Given the description of an element on the screen output the (x, y) to click on. 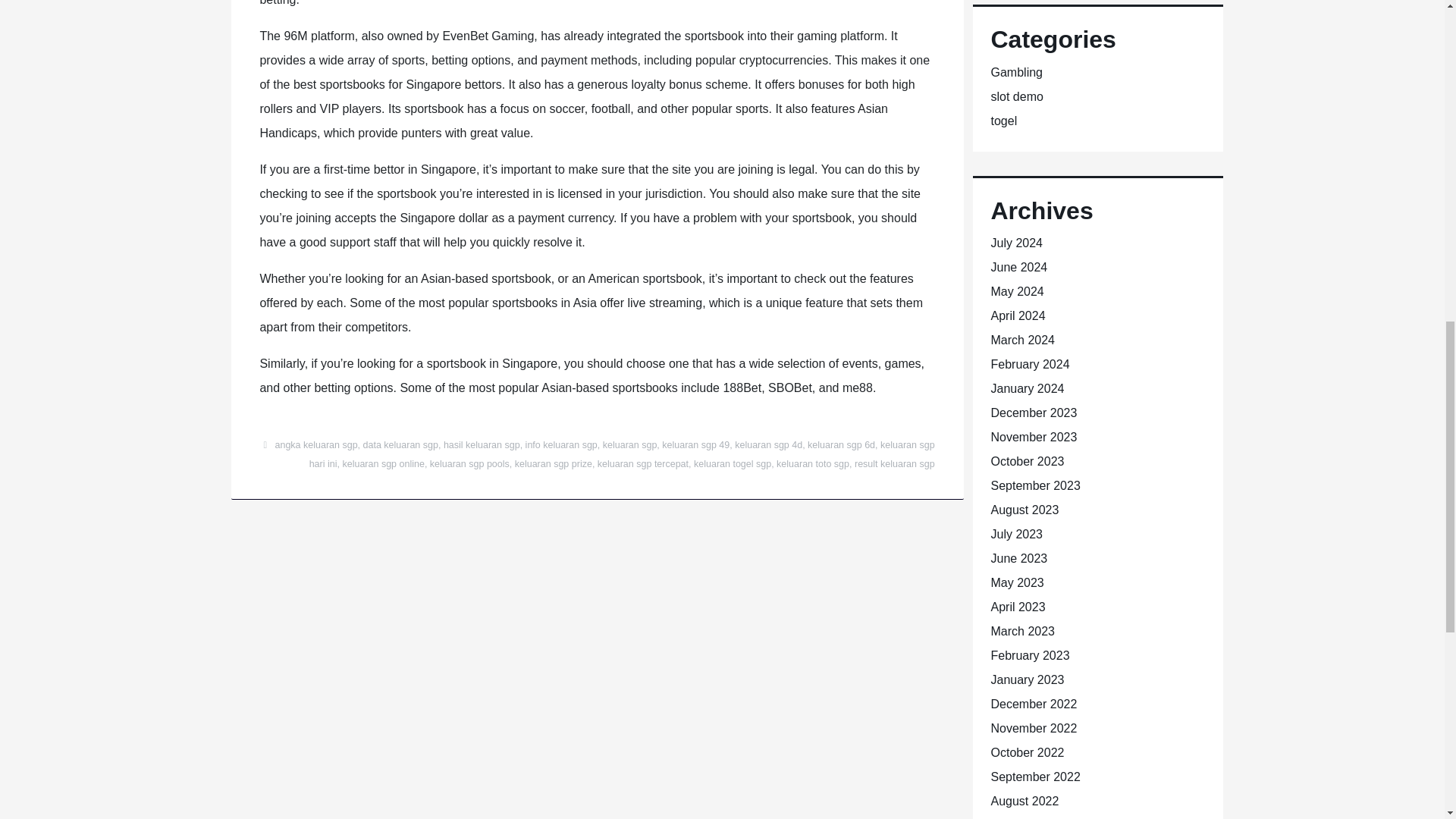
keluaran sgp pools (469, 463)
Gambling (1016, 72)
keluaran sgp prize (553, 463)
keluaran sgp hari ini (621, 454)
data keluaran sgp (400, 444)
slot demo (1016, 96)
togel (1003, 120)
hasil keluaran sgp (481, 444)
keluaran togel sgp (732, 463)
angka keluaran sgp (315, 444)
keluaran toto sgp (812, 463)
info keluaran sgp (560, 444)
keluaran sgp tercepat (642, 463)
keluaran sgp (630, 444)
keluaran sgp online (382, 463)
